Given the description of an element on the screen output the (x, y) to click on. 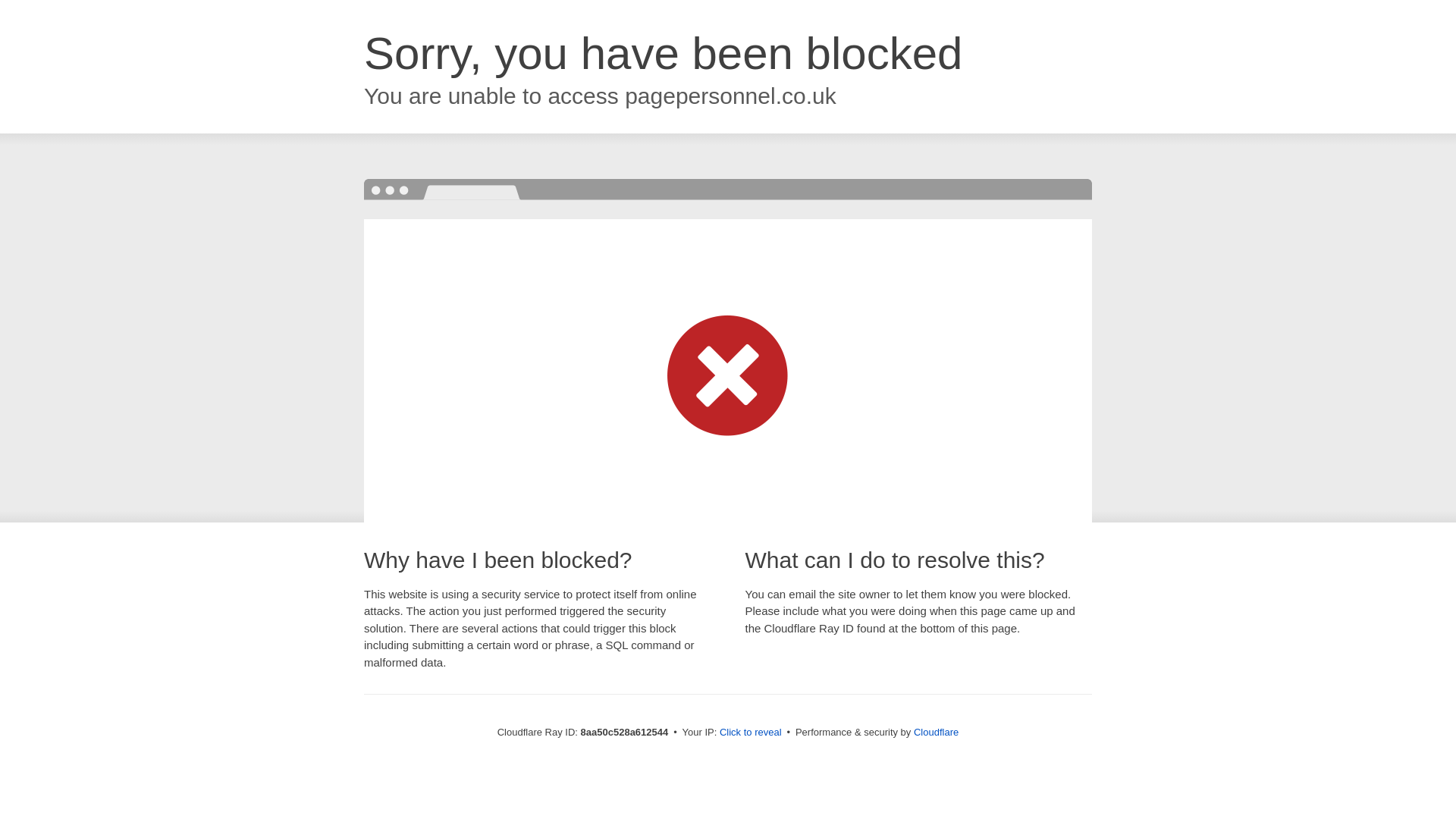
Click to reveal (750, 732)
Cloudflare (936, 731)
